Given the description of an element on the screen output the (x, y) to click on. 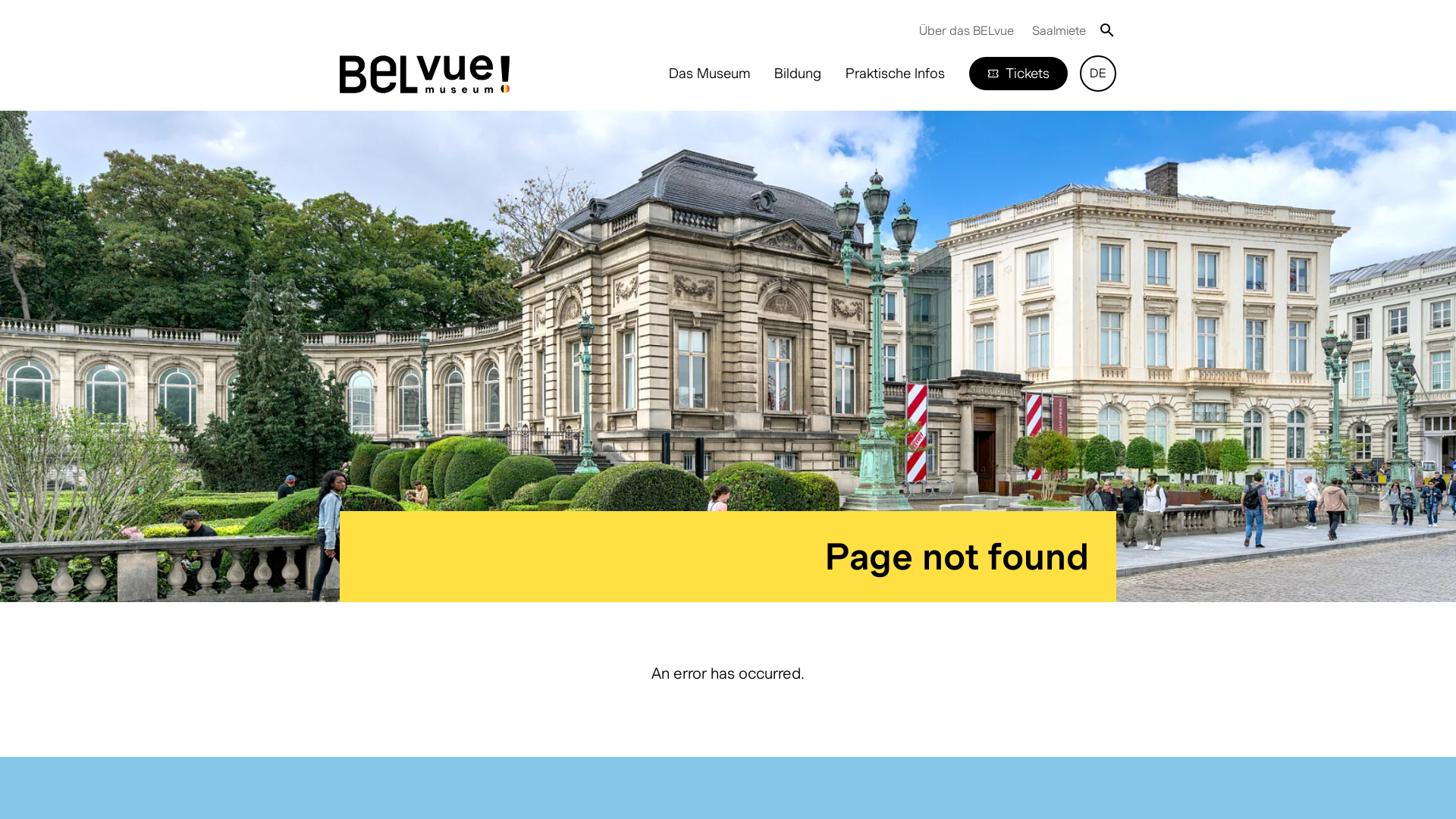
Saalmiete Element type: text (1058, 30)
Tickets Element type: text (1018, 73)
Praktische Infos Element type: text (894, 73)
Das Museum Element type: text (708, 73)
Bildung Element type: text (797, 73)
